Given the description of an element on the screen output the (x, y) to click on. 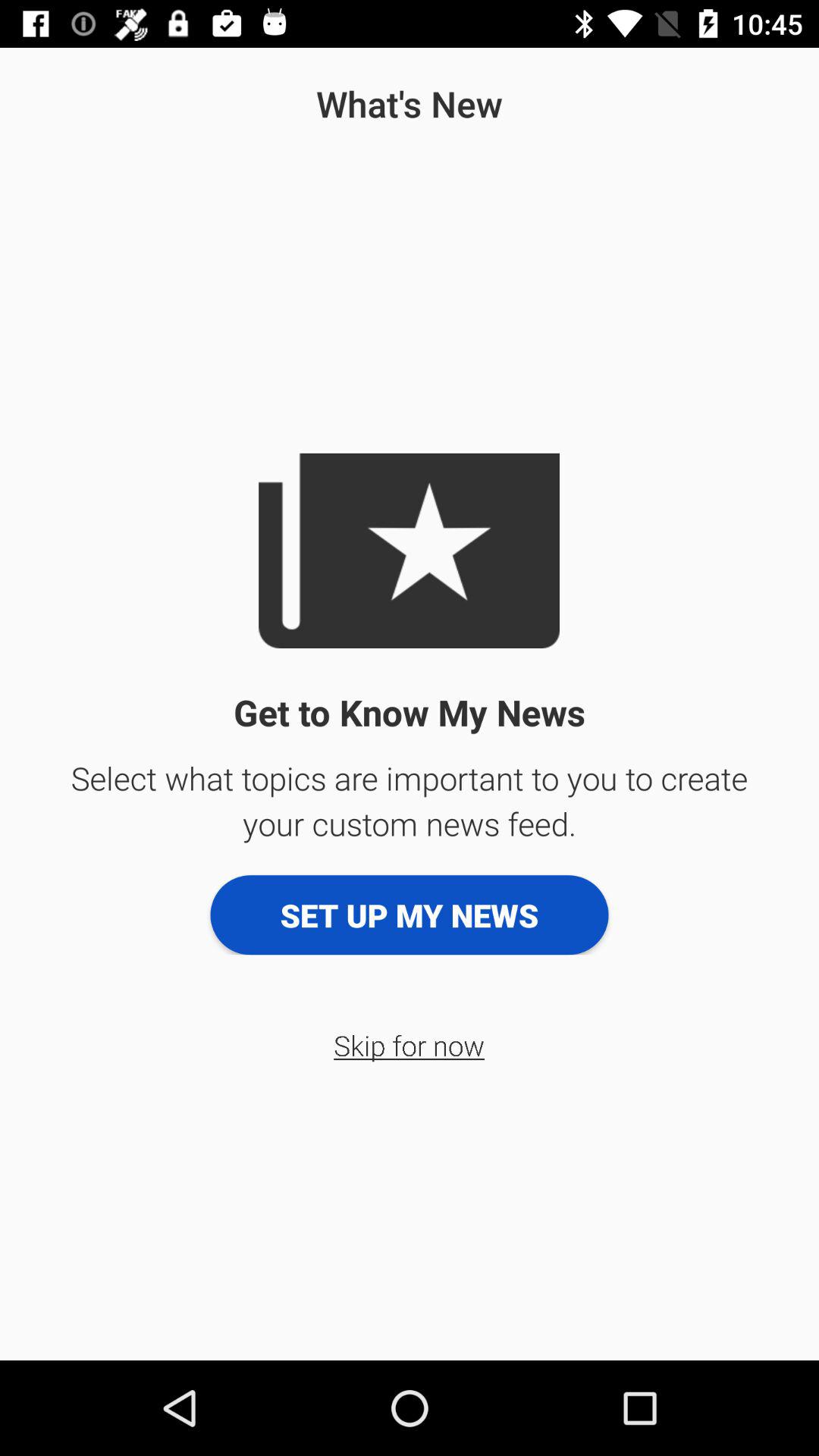
choose the skip for now (409, 1044)
